Given the description of an element on the screen output the (x, y) to click on. 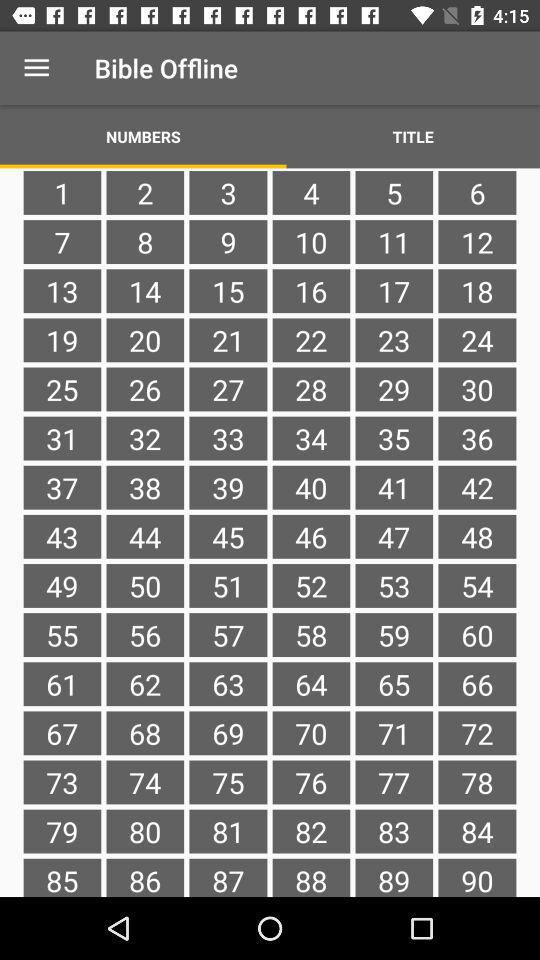
choose the item to the left of 28 item (228, 438)
